Given the description of an element on the screen output the (x, y) to click on. 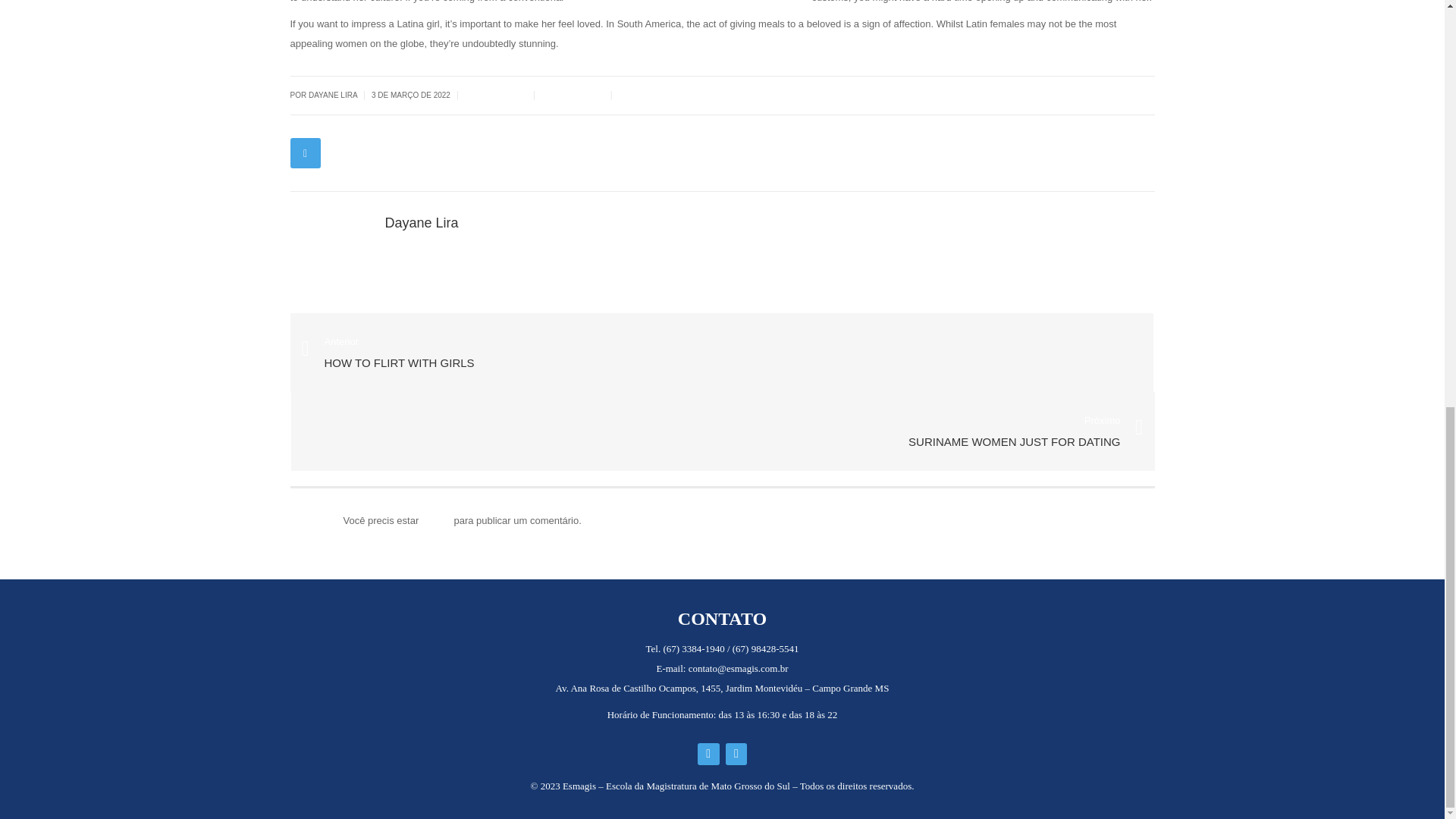
Posts de Dayane Lira (421, 222)
How to Flirt With Girls (721, 351)
Suriname Women Just for Dating (1013, 433)
Compartilhar no Facebook (304, 153)
